Given the description of an element on the screen output the (x, y) to click on. 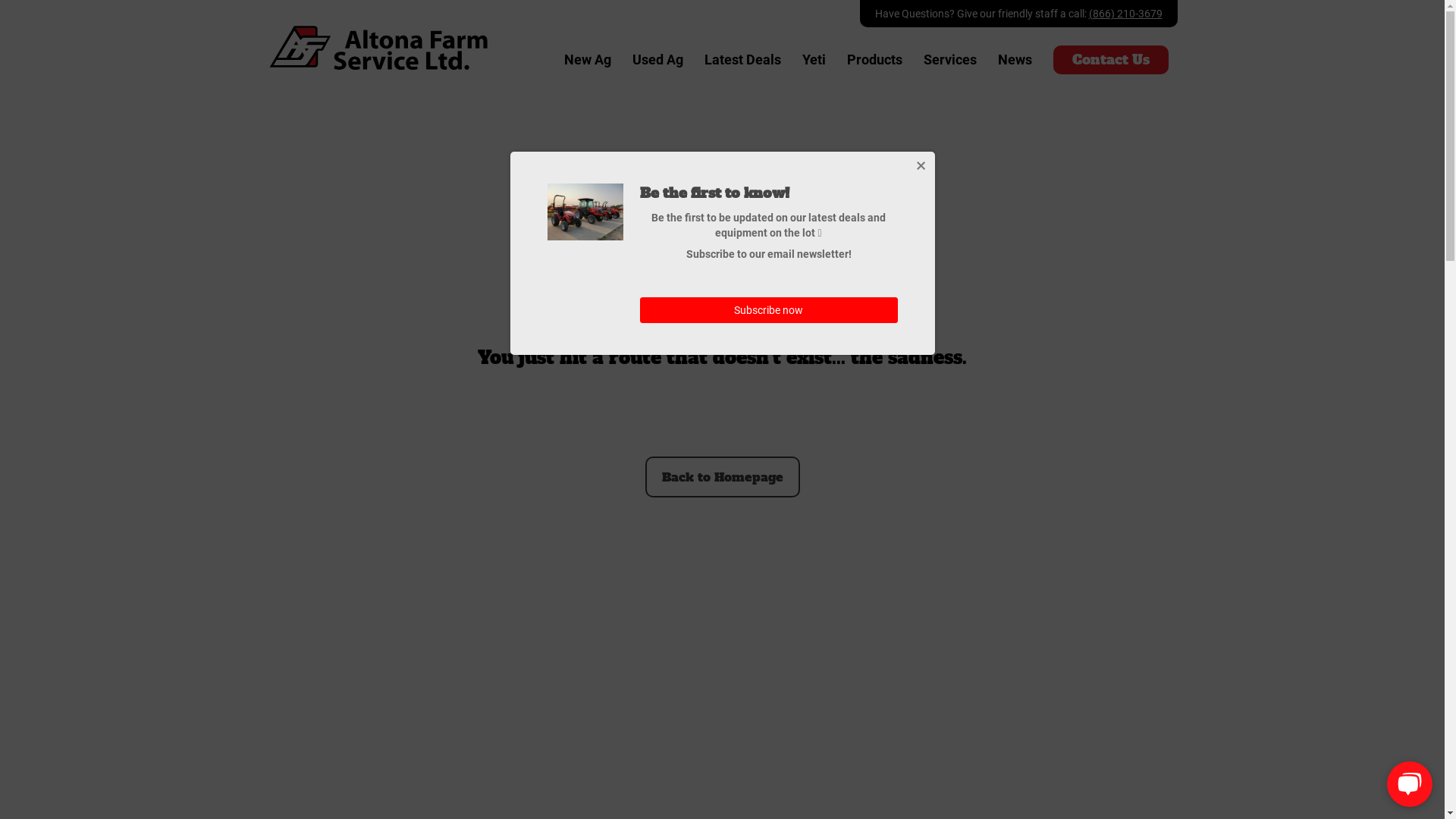
Services Element type: text (949, 59)
News Element type: text (1014, 59)
Contact Us Element type: text (1109, 59)
Subscribe now Element type: text (768, 310)
Yeti Element type: text (813, 59)
Used Ag Element type: text (657, 59)
Back to Homepage Element type: text (721, 476)
Latest Deals Element type: text (741, 59)
Products Element type: text (873, 59)
New Ag Element type: text (587, 59)
(866) 210-3679 Element type: text (1125, 13)
